Given the description of an element on the screen output the (x, y) to click on. 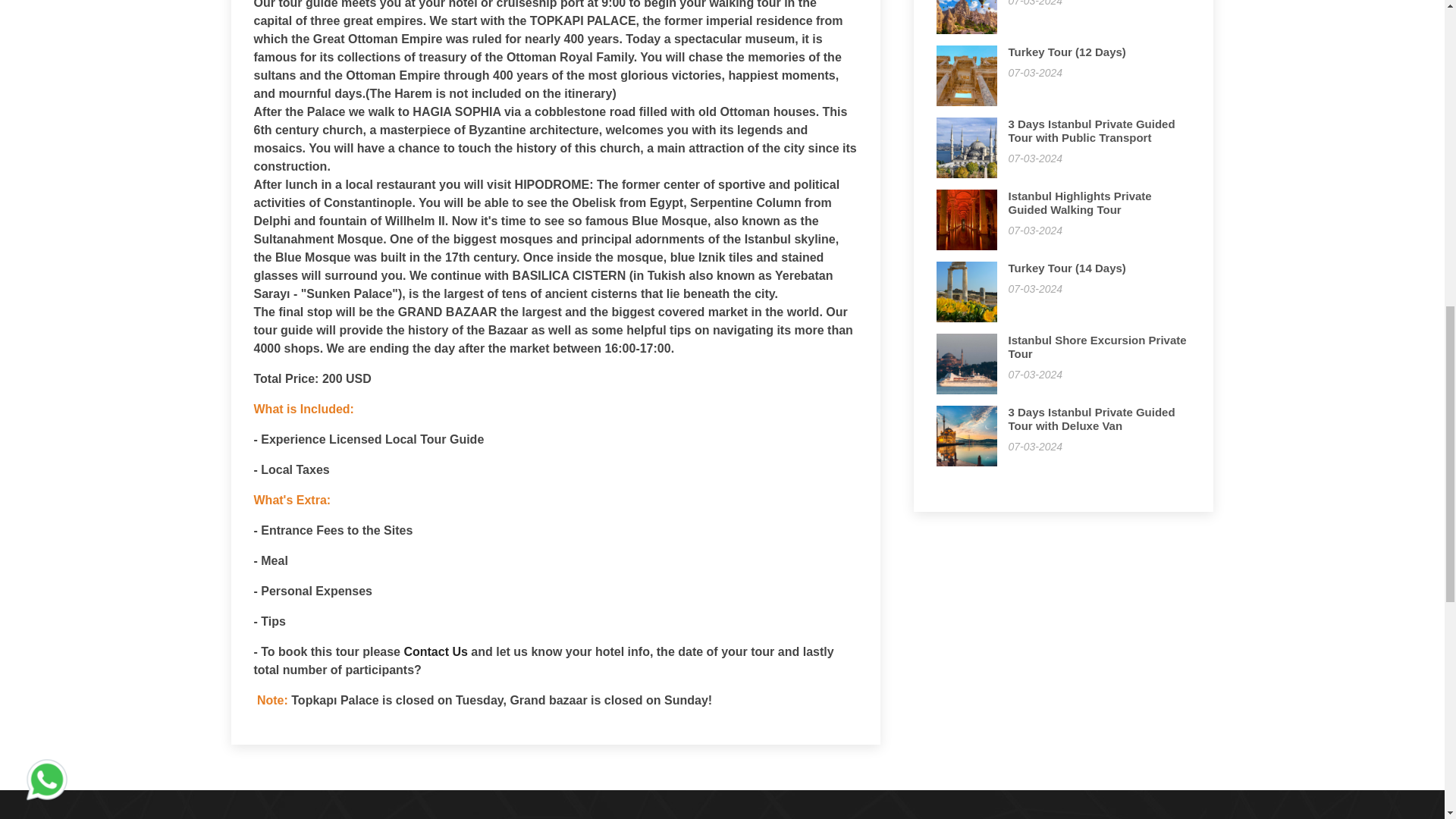
Istanbul Highlights Private Guided Walking Tour (1080, 202)
3 Days Istanbul Private Guided Tour with Deluxe Van (1091, 418)
Contact Us (435, 651)
Contact Us (435, 651)
3 Days Istanbul Private Guided Tour with Public Transport (1091, 130)
Istanbul Shore Excursion Private Tour (1097, 346)
